Given the description of an element on the screen output the (x, y) to click on. 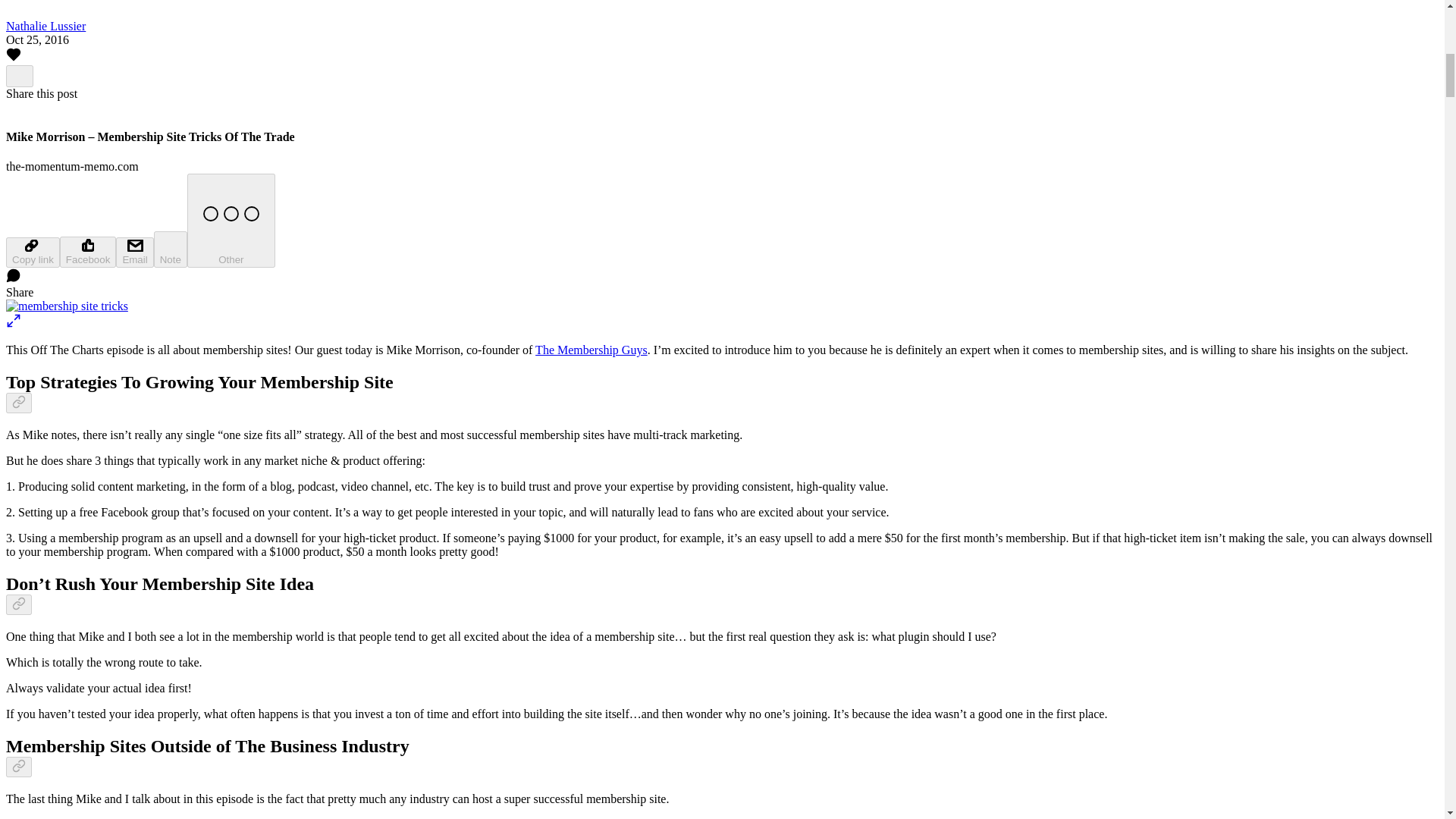
The Membership Guys (591, 349)
Note (170, 248)
Nathalie Lussier (45, 25)
Copy link (32, 252)
Other (231, 220)
Facebook (87, 251)
Email (134, 252)
membership site tricks (66, 305)
